Given the description of an element on the screen output the (x, y) to click on. 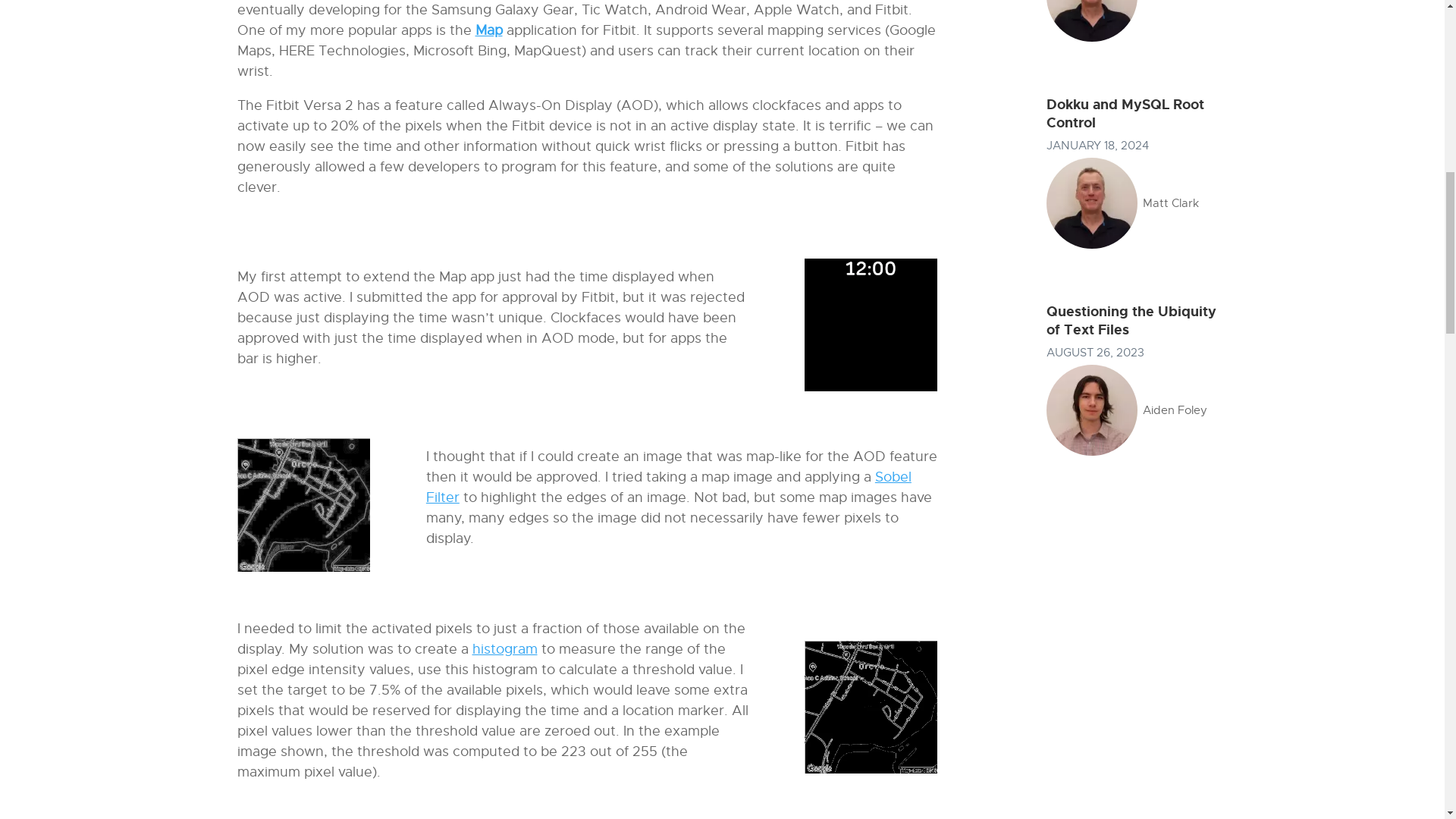
histogram (504, 648)
Map (488, 30)
map-time (871, 324)
map-threshold (871, 706)
Questioning the Ubiquity of Text Files (1130, 320)
map-edges (302, 504)
Sobel Filter (668, 487)
Dokku and MySQL Root Control (1125, 113)
